Given the description of an element on the screen output the (x, y) to click on. 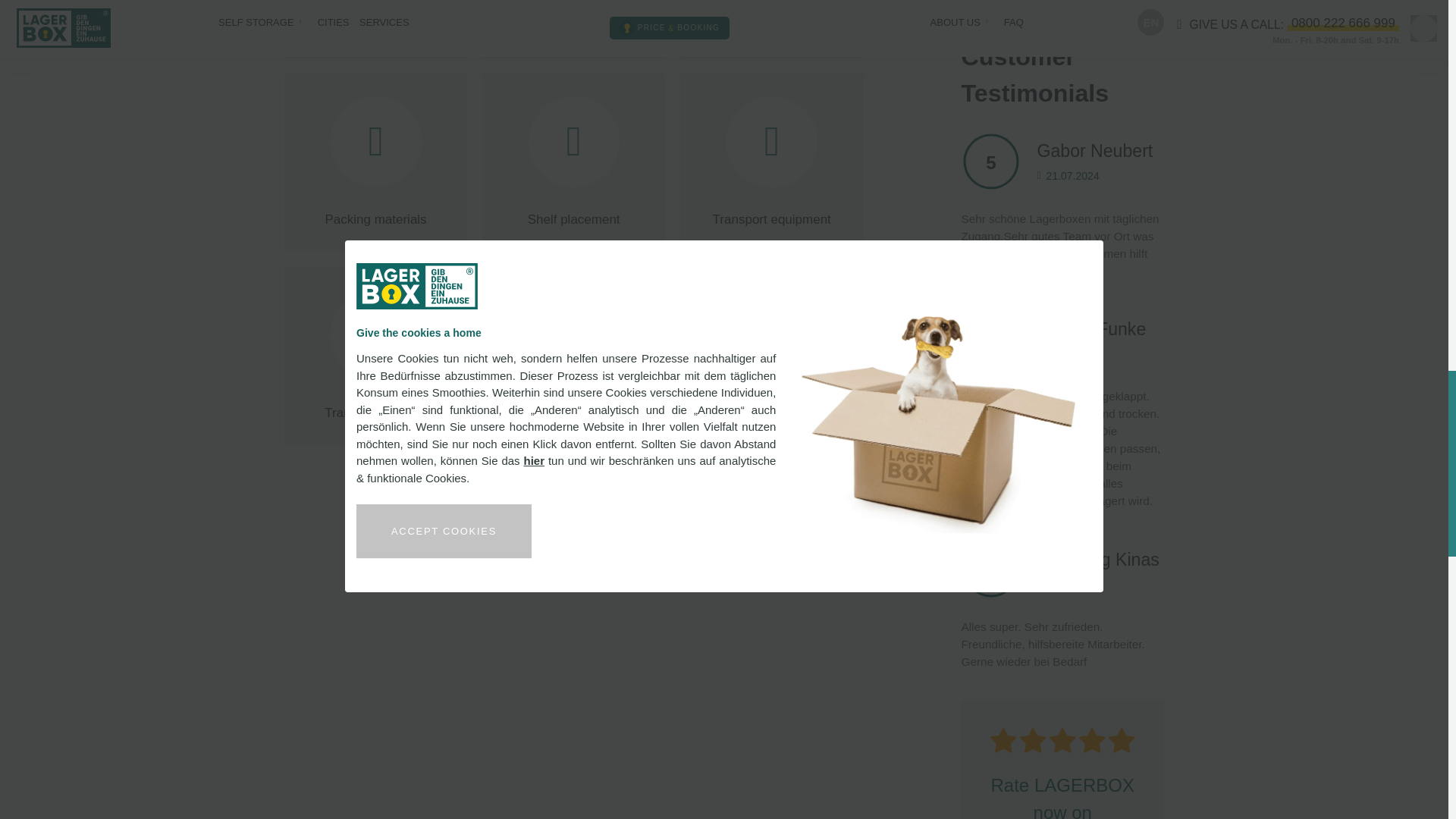
Rate LAGERBOX now on (1061, 759)
